Given the description of an element on the screen output the (x, y) to click on. 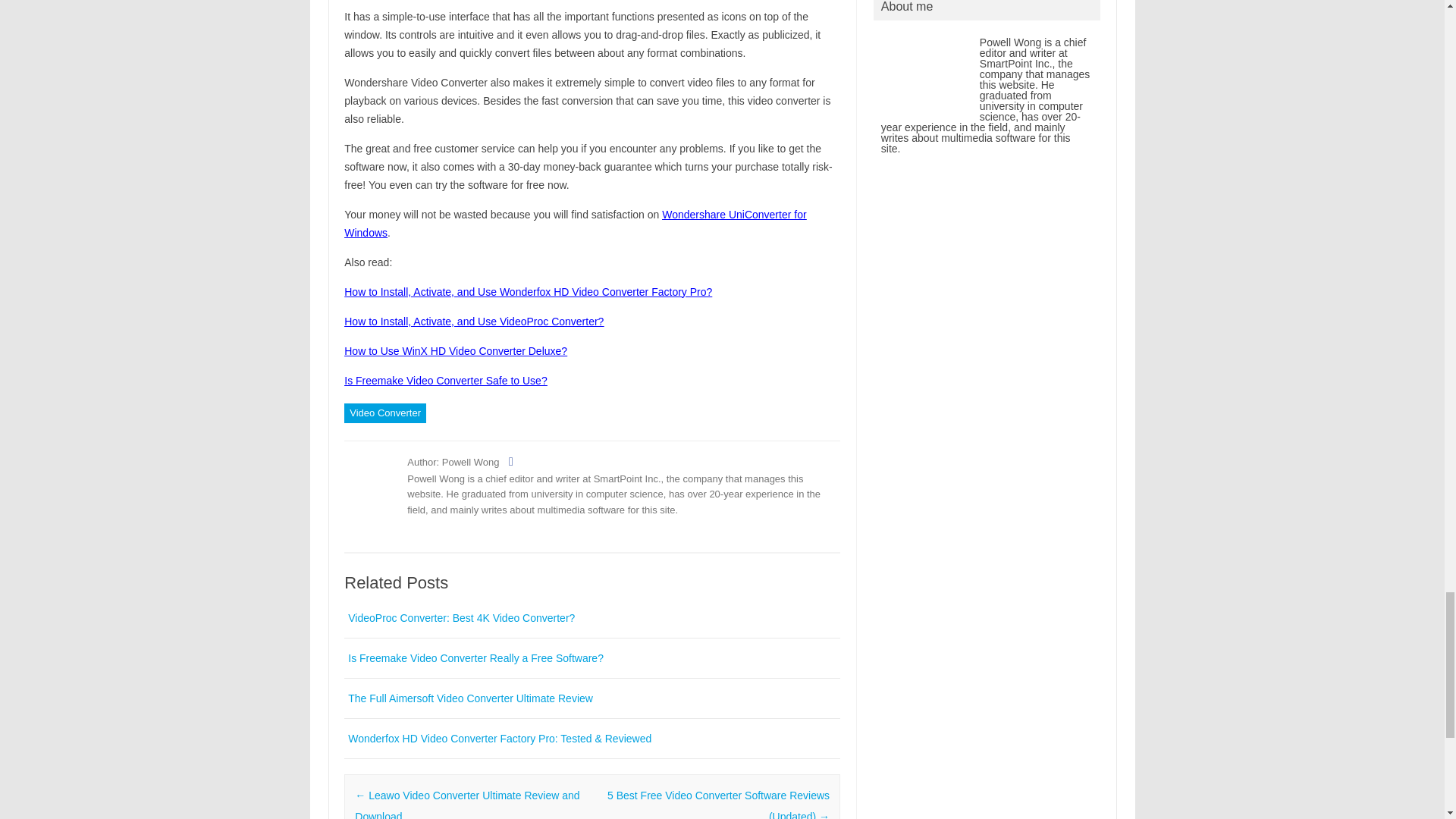
VideoProc Converter: Best 4K Video Converter? (461, 617)
Is Freemake Video Converter Really a Free Software? (475, 657)
The Full Aimersoft Video Converter Ultimate Review (469, 698)
